Given the description of an element on the screen output the (x, y) to click on. 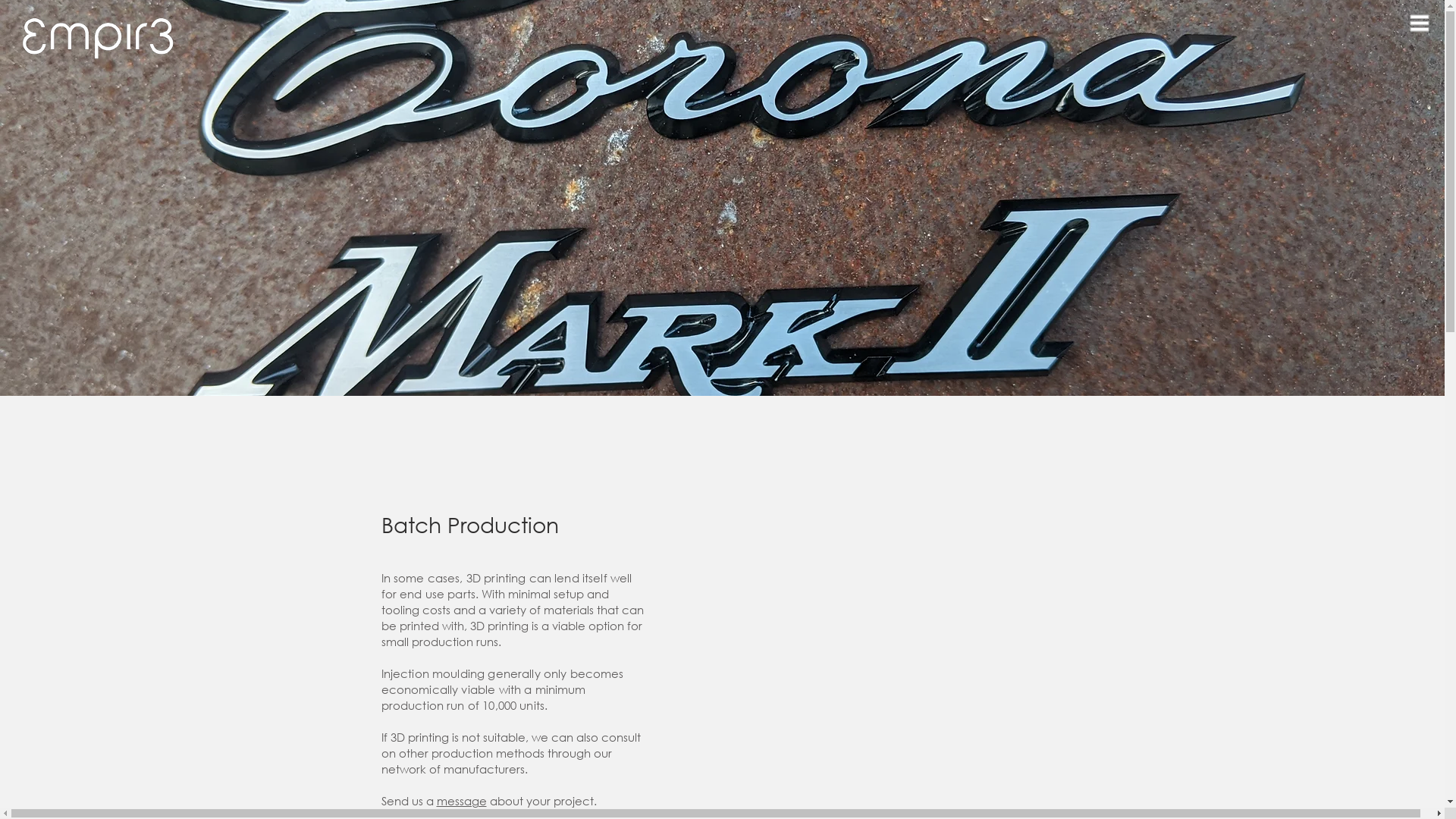
0 Element type: text (1025, 41)
message Element type: text (461, 800)
Log In Element type: text (963, 42)
